Given the description of an element on the screen output the (x, y) to click on. 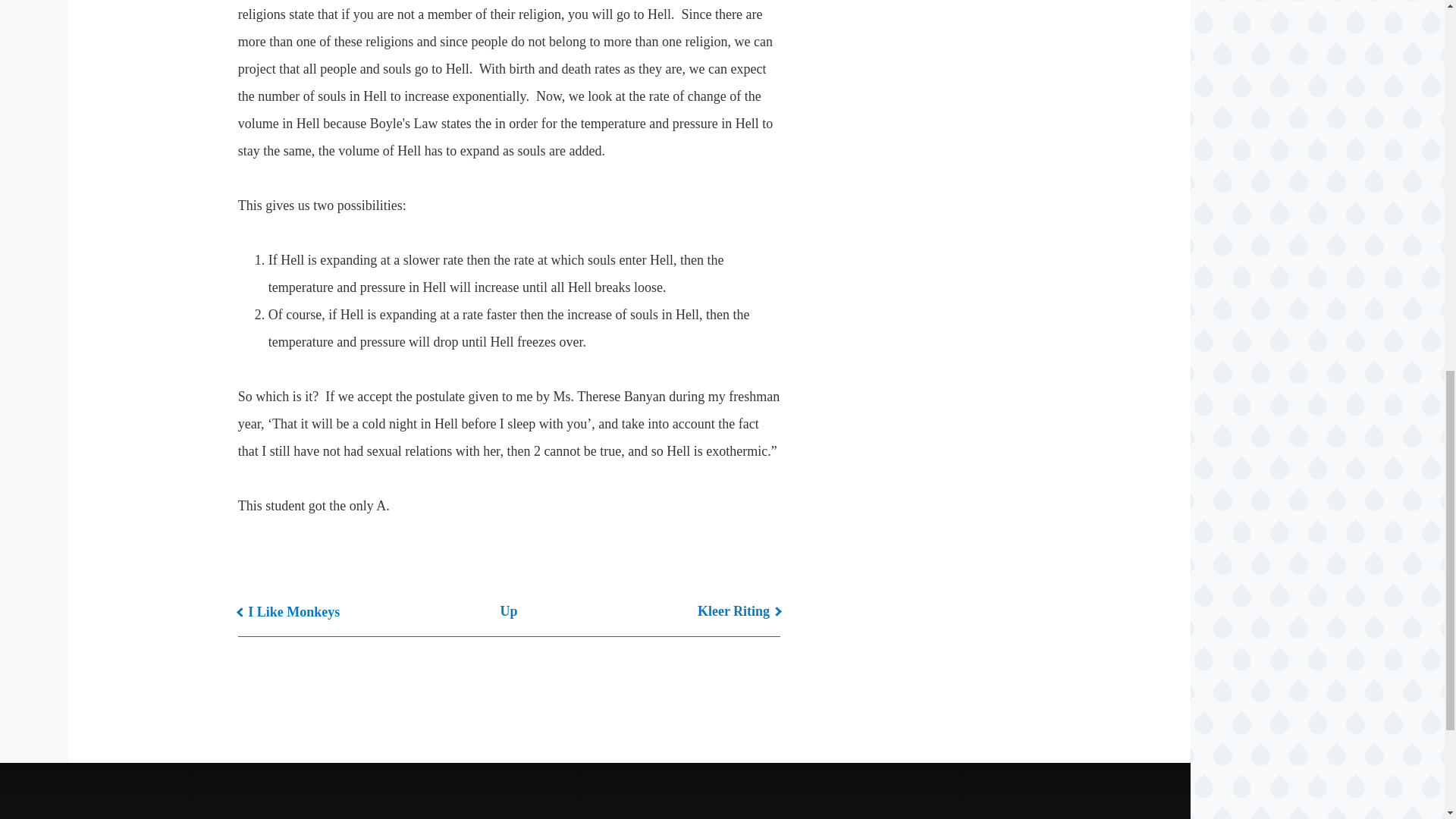
Go to previous page (289, 611)
Kleer Riting (738, 611)
Go to next page (738, 611)
I Like Monkeys (289, 611)
